Given the description of an element on the screen output the (x, y) to click on. 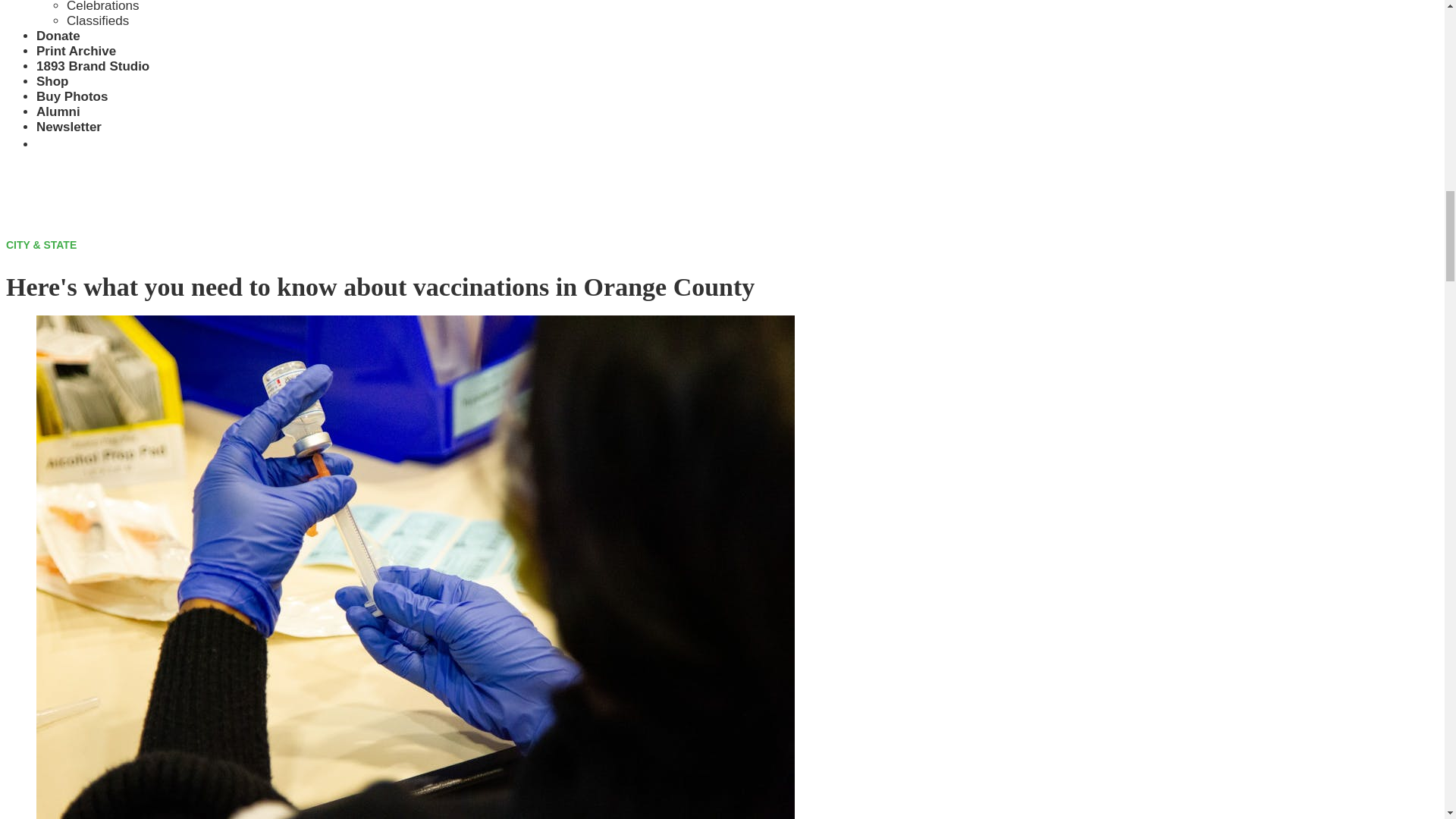
Alumni (58, 111)
Buy Photos (71, 96)
Print Archive (76, 51)
Newsletter (68, 126)
Shop (52, 81)
1893 Brand Studio (92, 65)
Donate (58, 35)
